Given the description of an element on the screen output the (x, y) to click on. 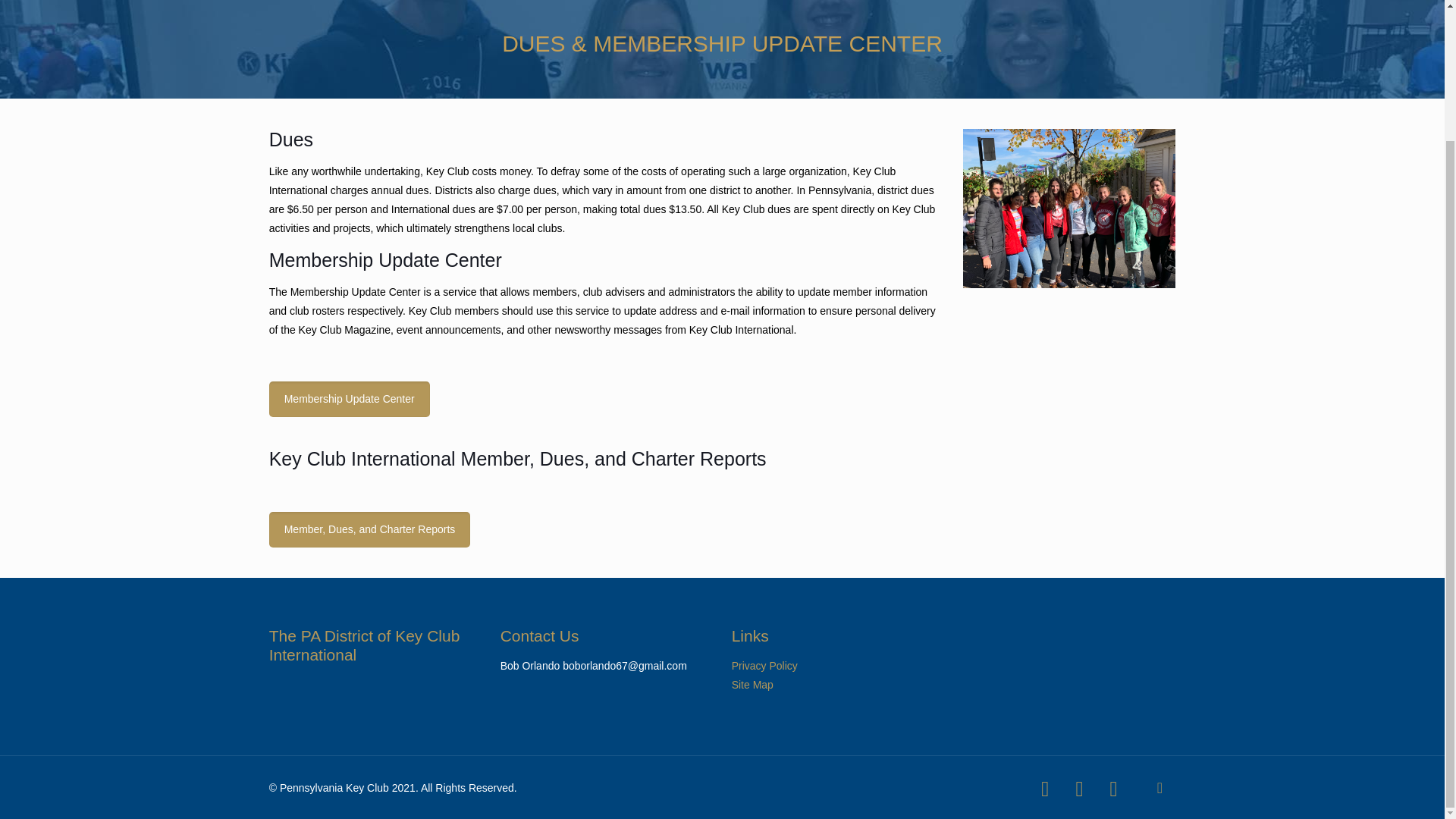
Twitter (1079, 629)
Facebook (1044, 629)
YouTube (1113, 629)
